Given the description of an element on the screen output the (x, y) to click on. 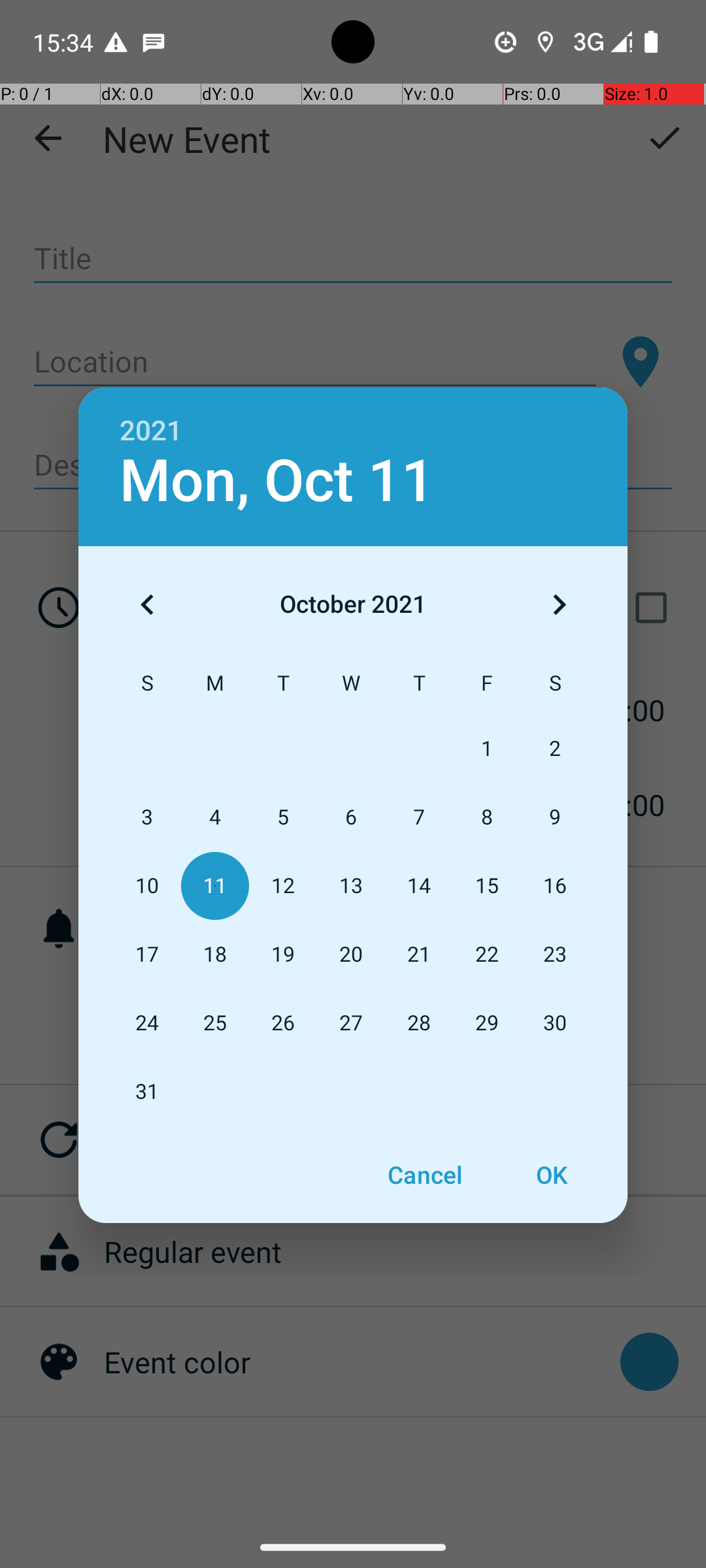
2021 Element type: android.widget.TextView (150, 430)
Mon, Oct 11 Element type: android.widget.TextView (276, 480)
